Given the description of an element on the screen output the (x, y) to click on. 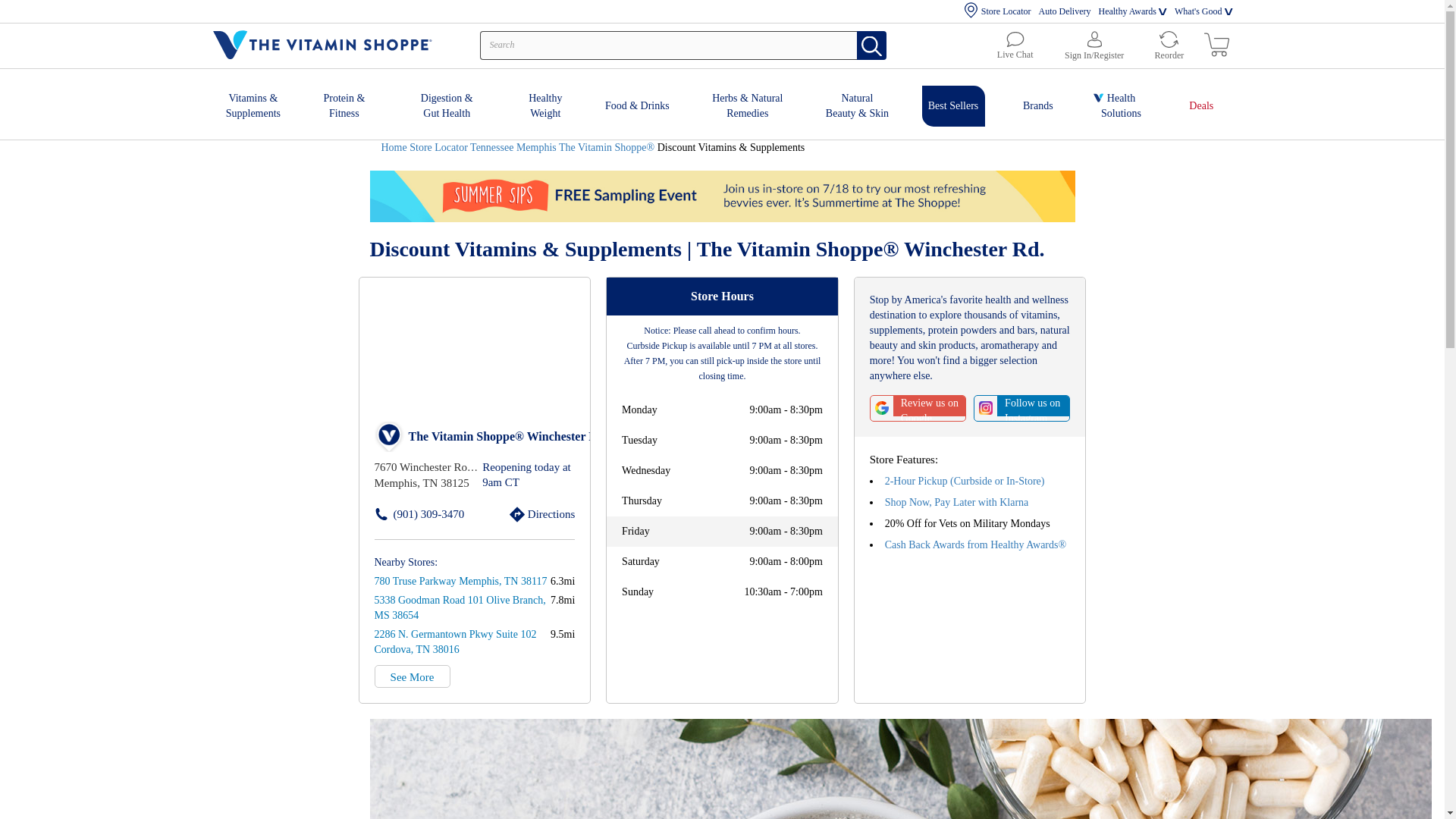
Store Locator (996, 12)
Auto Delivery (1064, 12)
Reorder (1167, 45)
Healthy Awards (1126, 12)
Shop Now, Pay Later with Klarna (957, 501)
View more (411, 676)
Vitamin Shoppe (455, 641)
Review us on Google (917, 407)
Menu (12, 7)
Directions (524, 514)
Call Store (396, 514)
Brands (1037, 103)
Deals (545, 103)
